Given the description of an element on the screen output the (x, y) to click on. 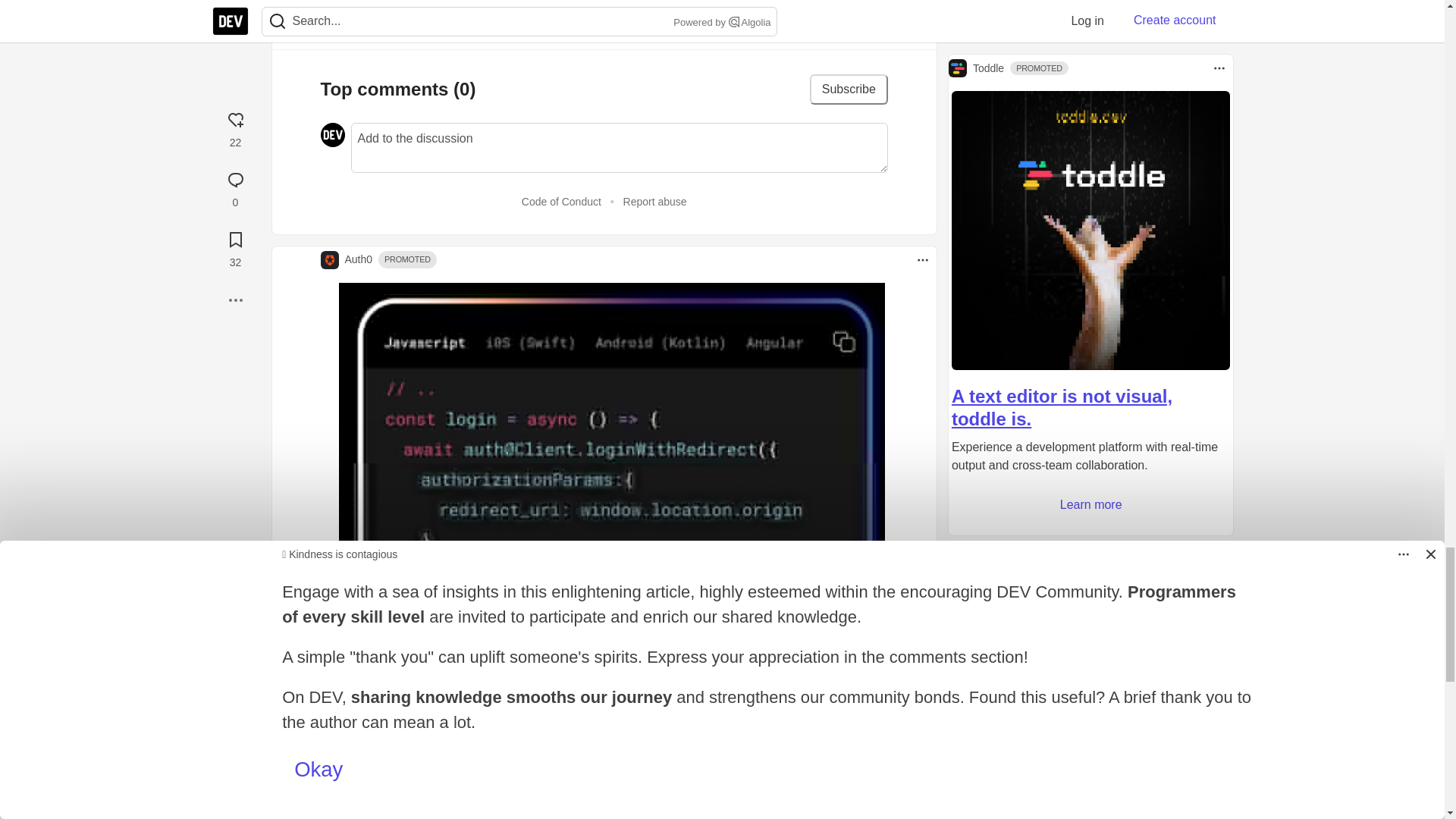
Dropdown menu (922, 259)
